Given the description of an element on the screen output the (x, y) to click on. 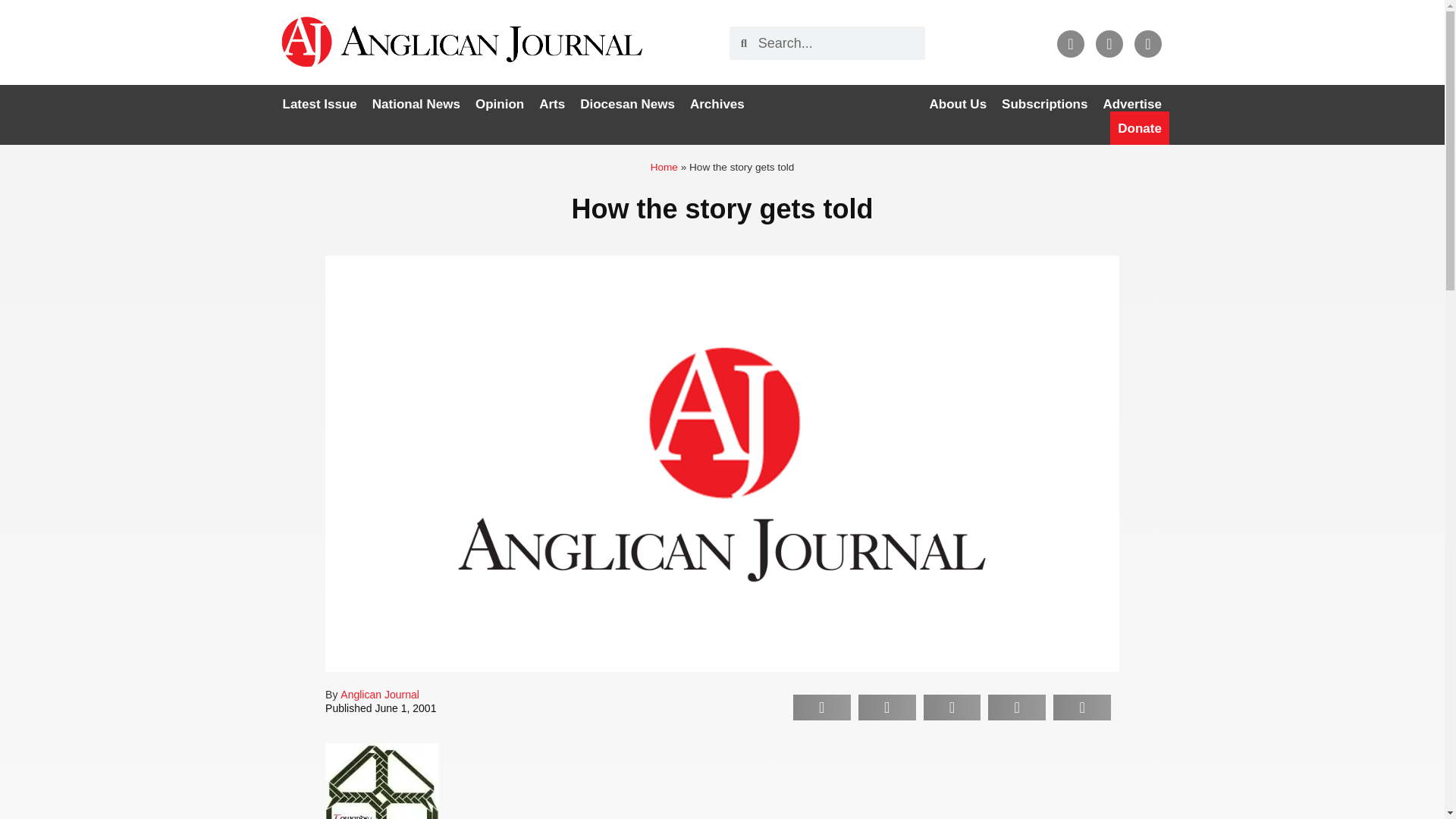
Subscriptions (1044, 104)
Latest Issue (319, 104)
About Us (957, 104)
Opinion (499, 104)
Archives (717, 104)
Arts (551, 104)
Advertise (1131, 104)
Diocesan News (627, 104)
National News (416, 104)
Anglican Journal (379, 694)
